Given the description of an element on the screen output the (x, y) to click on. 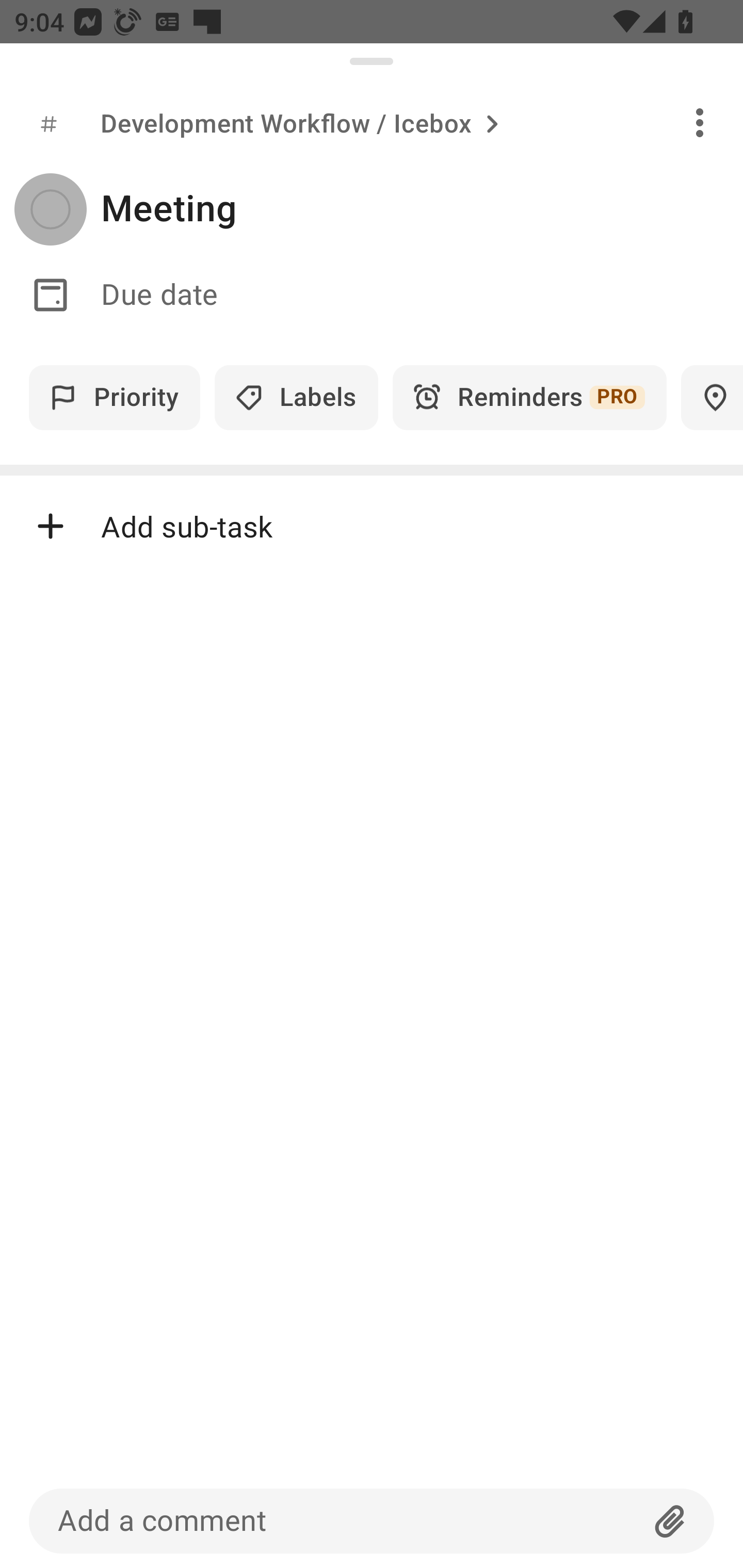
Overflow menu (699, 122)
Complete (50, 209)
Meeting​ (422, 209)
Date Due date (371, 295)
Priority (113, 397)
Labels (296, 397)
Reminders PRO (529, 397)
Locations PRO (712, 397)
Add sub-task (371, 525)
Add a comment Attachment (371, 1520)
Attachment (670, 1520)
